Given the description of an element on the screen output the (x, y) to click on. 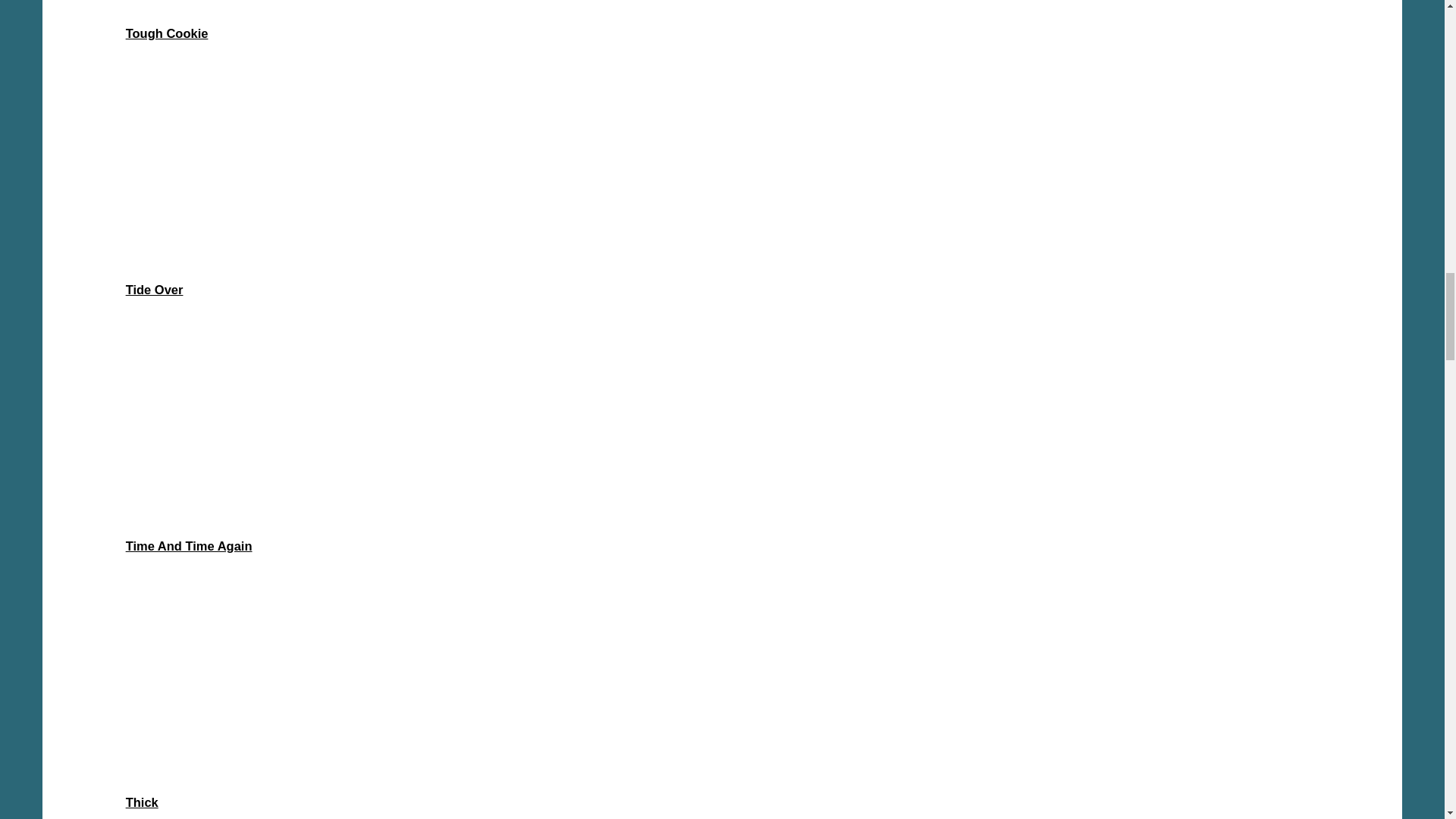
Advertisement (721, 6)
